Given the description of an element on the screen output the (x, y) to click on. 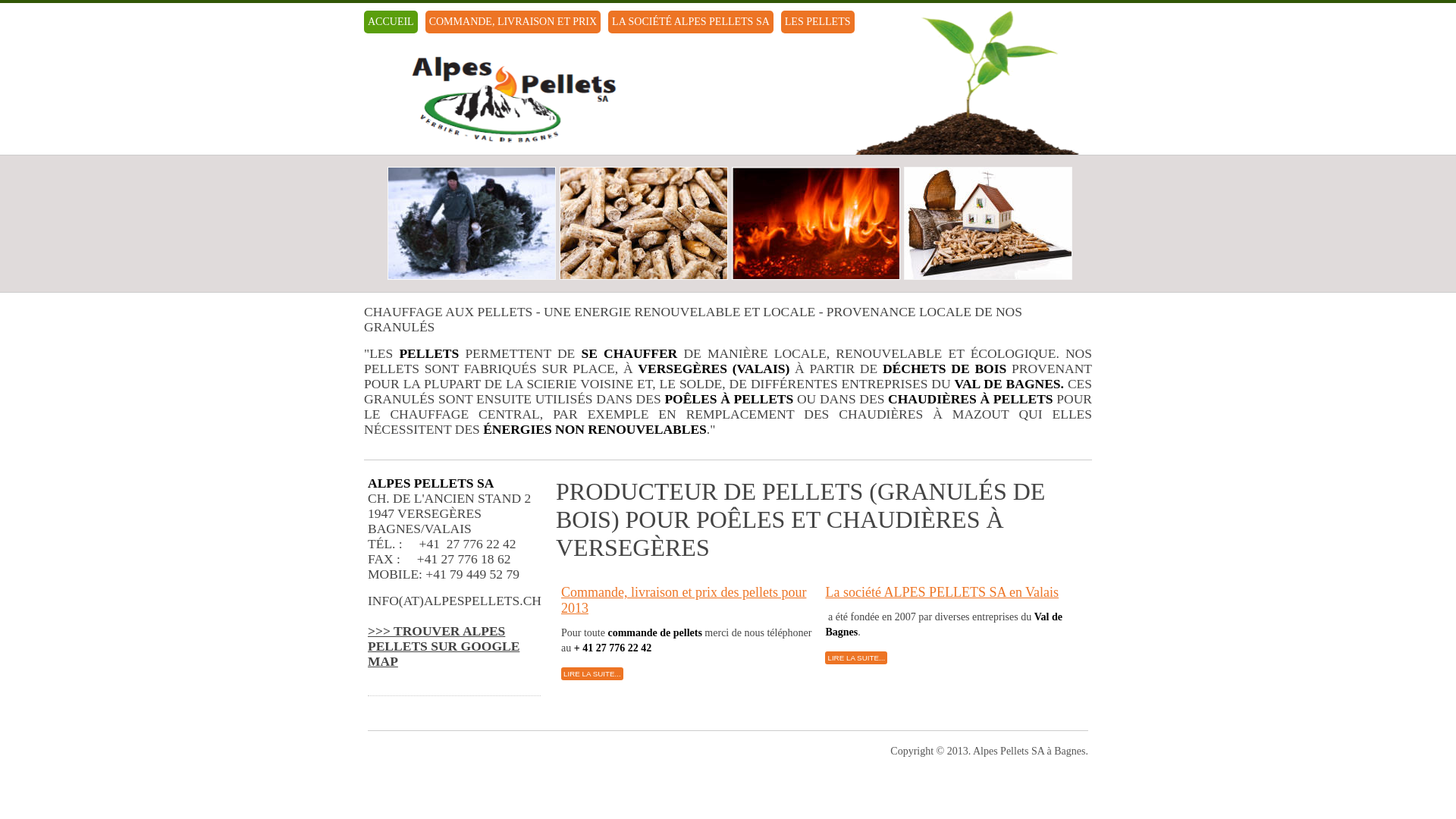
ACCUEIL Element type: text (390, 21)
COMMANDE, LIVRAISON ET PRIX Element type: text (512, 21)
LIRE LA SUITE... Element type: text (592, 673)
>>> TROUVER ALPES PELLETS SUR GOOGLE MAP Element type: text (443, 645)
Commande, livraison et prix des pellets pour 2013 Element type: text (683, 599)
LES PELLETS Element type: text (817, 21)
LIRE LA SUITE... Element type: text (856, 657)
